Given the description of an element on the screen output the (x, y) to click on. 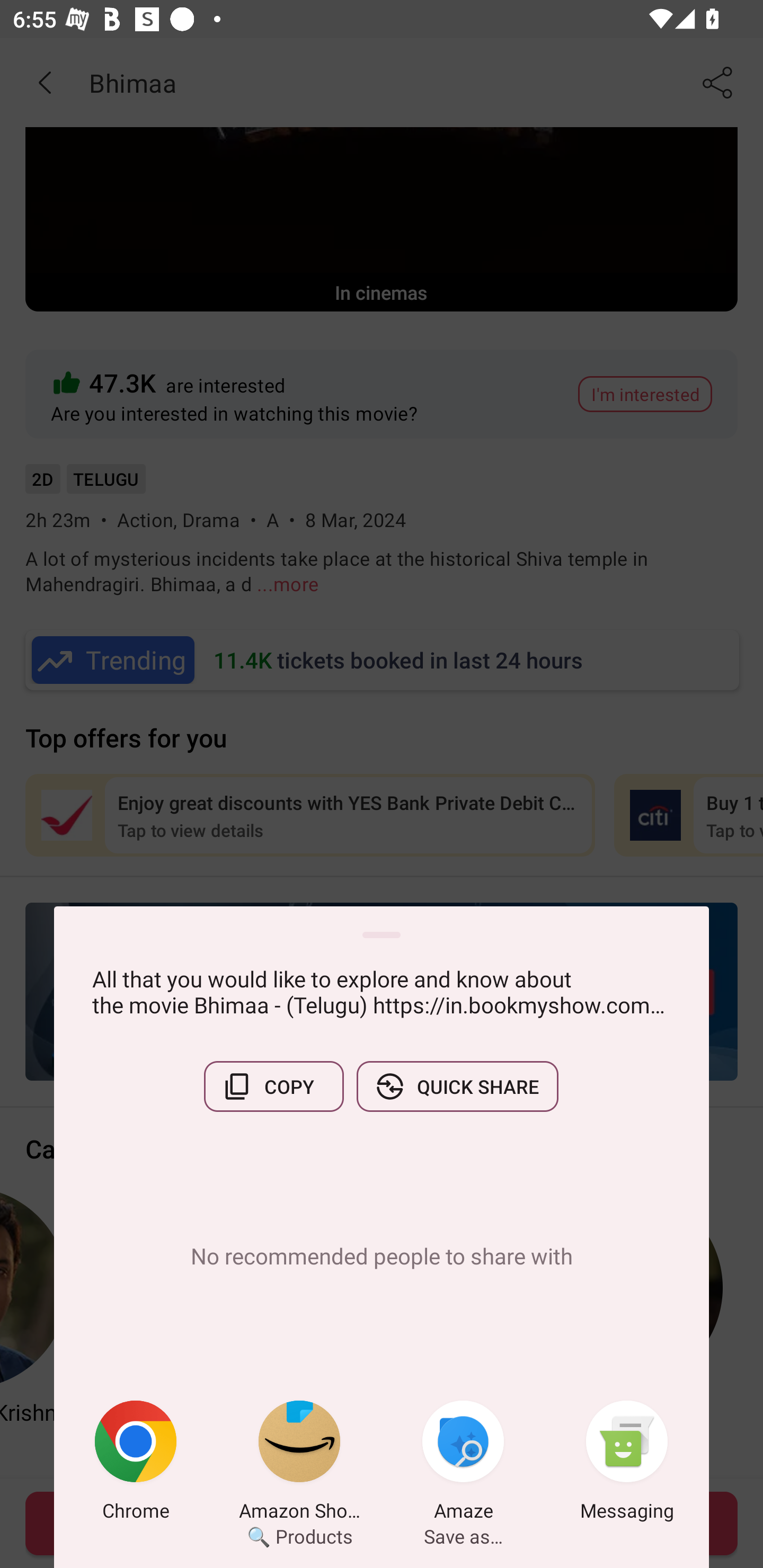
COPY (273, 1086)
QUICK SHARE (457, 1086)
Chrome (135, 1463)
Amazon Shopping 🔍 Products (299, 1463)
Amaze Save as… (463, 1463)
Messaging (626, 1463)
